Given the description of an element on the screen output the (x, y) to click on. 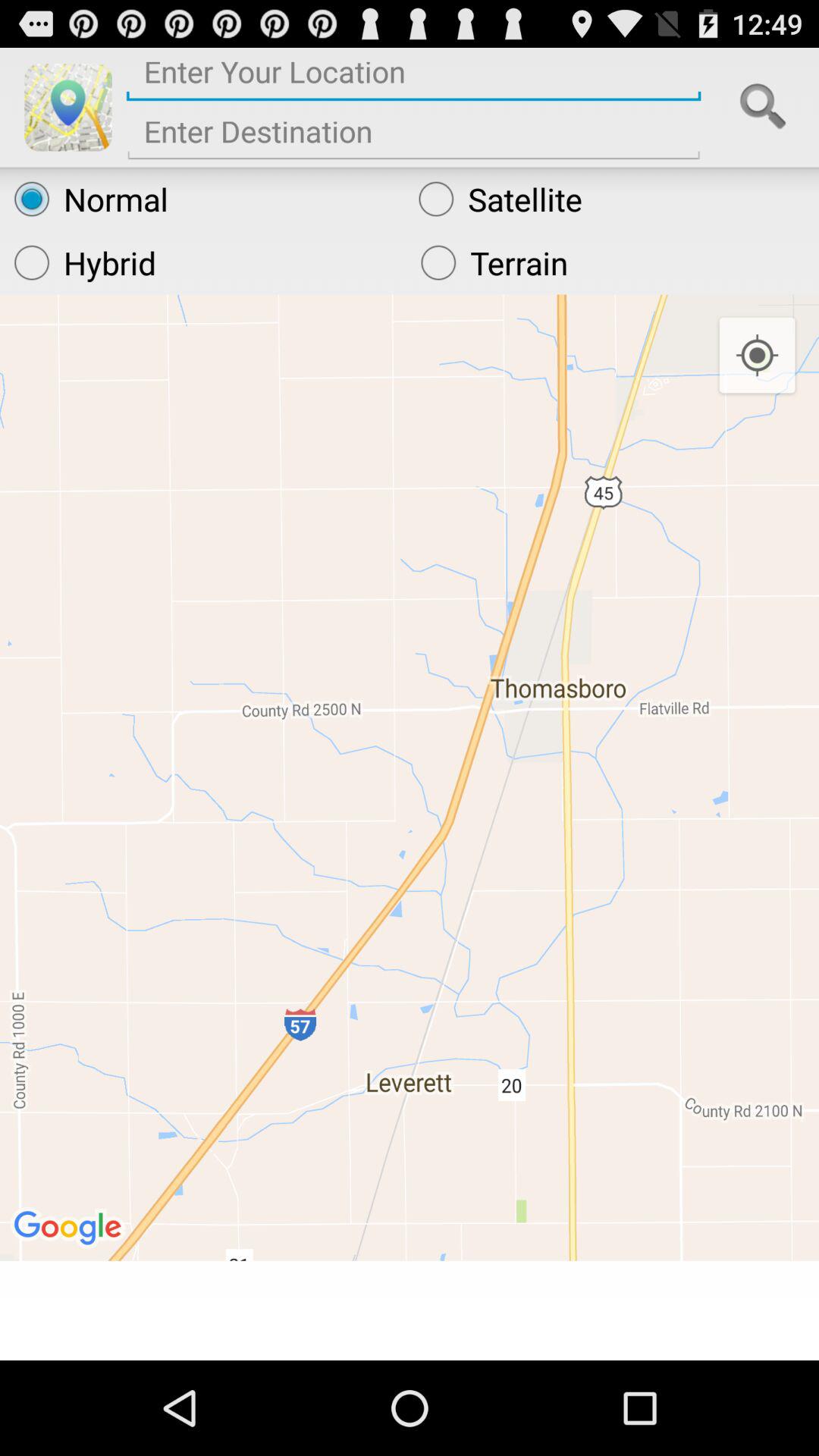
scroll to the satellite (611, 198)
